Given the description of an element on the screen output the (x, y) to click on. 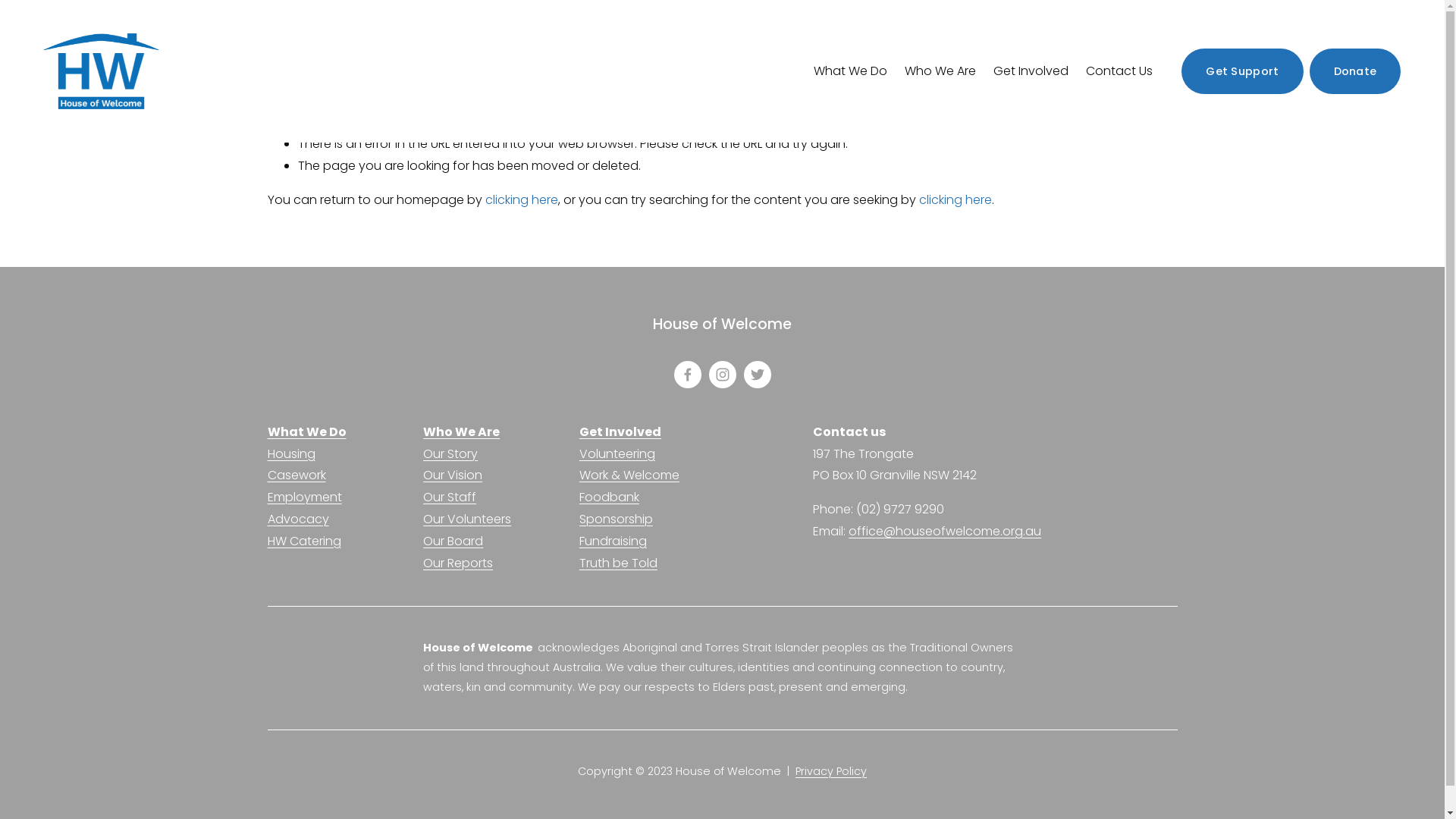
Foodbank Element type: text (609, 497)
Truth be Told Element type: text (618, 563)
Get Involved Element type: text (620, 432)
Who We Are Element type: text (939, 71)
HW Catering Element type: text (303, 541)
Contact Us Element type: text (1118, 71)
clicking here Element type: text (955, 199)
Our Volunteers Element type: text (467, 519)
Advocacy Element type: text (297, 519)
Get Involved Element type: text (1030, 71)
Our Story Element type: text (450, 454)
What We Do Element type: text (850, 71)
Sponsorship Element type: text (615, 519)
office@houseofwelcome.org.au Element type: text (944, 531)
Fundraising Element type: text (612, 541)
Housing Element type: text (290, 454)
Donate Element type: text (1355, 70)
Volunteering Element type: text (617, 454)
Privacy Policy Element type: text (830, 771)
Our Vision Element type: text (452, 475)
What We Do Element type: text (305, 432)
Get Support Element type: text (1241, 70)
Our Board Element type: text (453, 541)
clicking here Element type: text (521, 199)
Work & Welcome Element type: text (629, 475)
Who We Are Element type: text (461, 432)
Employment Element type: text (303, 497)
Casework Element type: text (295, 475)
Our Staff Element type: text (449, 497)
Our Reports Element type: text (457, 563)
